Given the description of an element on the screen output the (x, y) to click on. 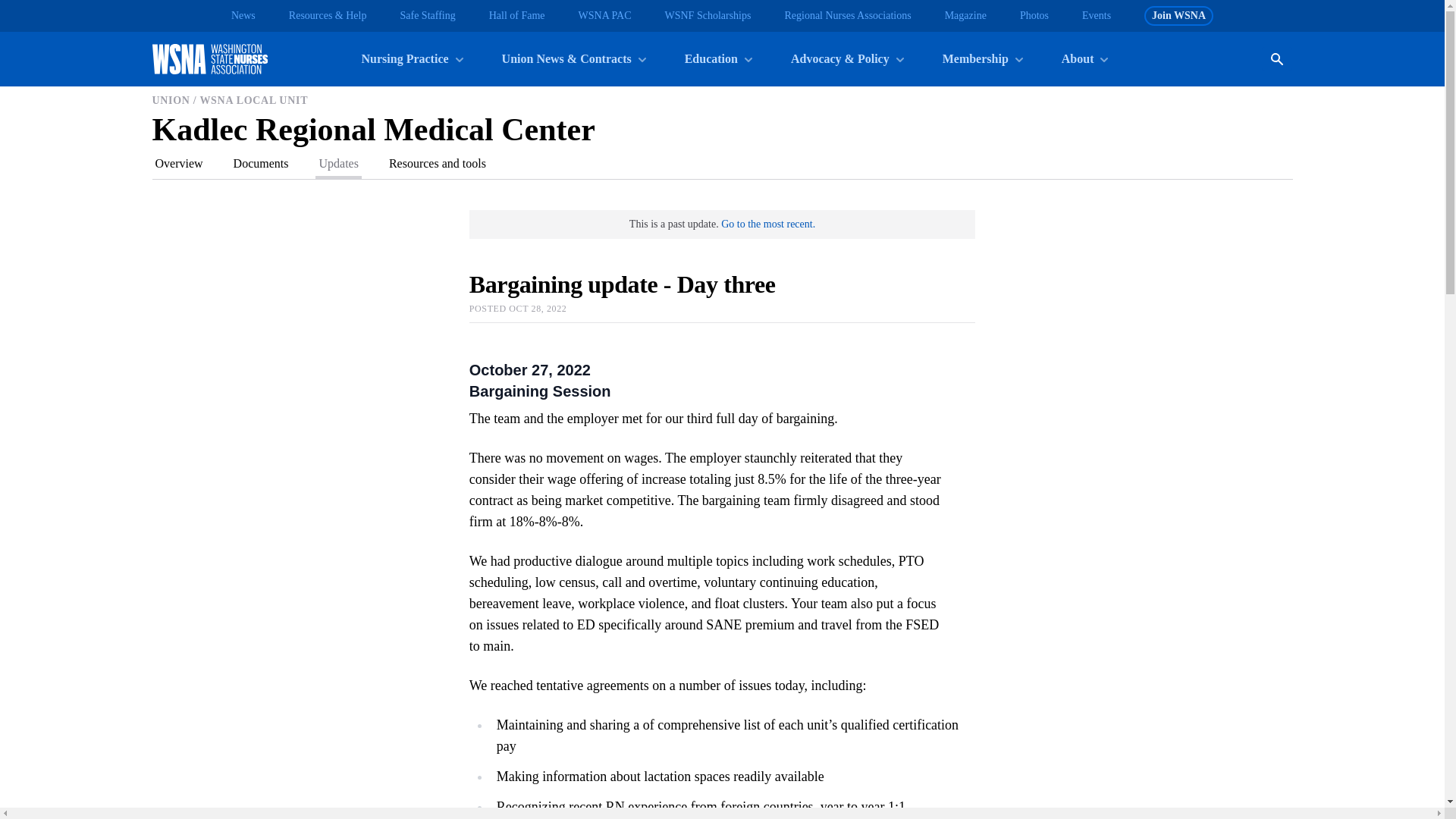
Magazine (965, 15)
Events (1095, 15)
Join WSNA (1178, 15)
WSNA PAC (604, 15)
WSNF Scholarships (707, 15)
Photos (1034, 15)
Regional Nurses Associations (847, 15)
Safe Staffing (426, 15)
Education (717, 58)
Hall of Fame (516, 15)
